Given the description of an element on the screen output the (x, y) to click on. 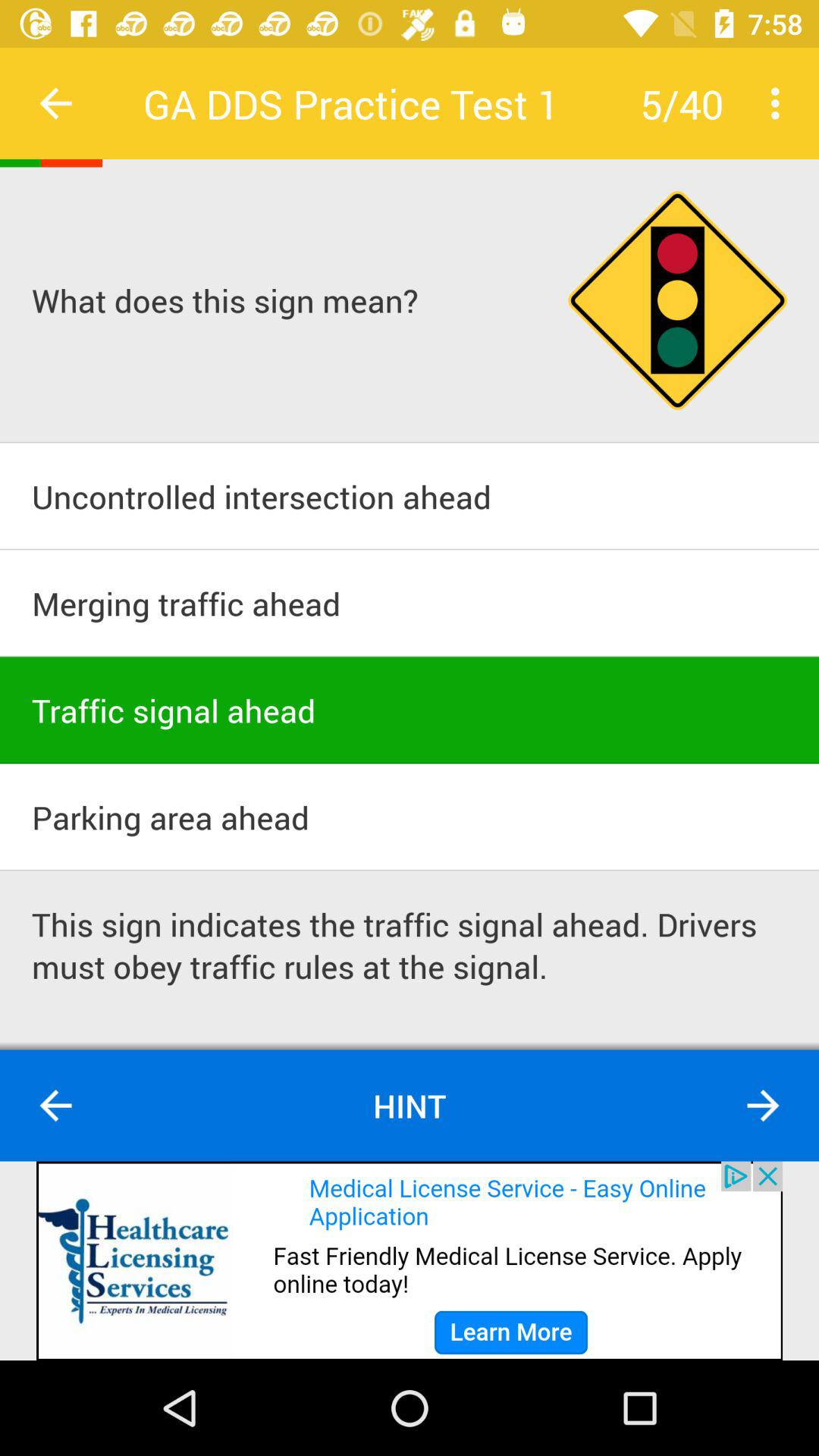
shre the article (409, 1260)
